Given the description of an element on the screen output the (x, y) to click on. 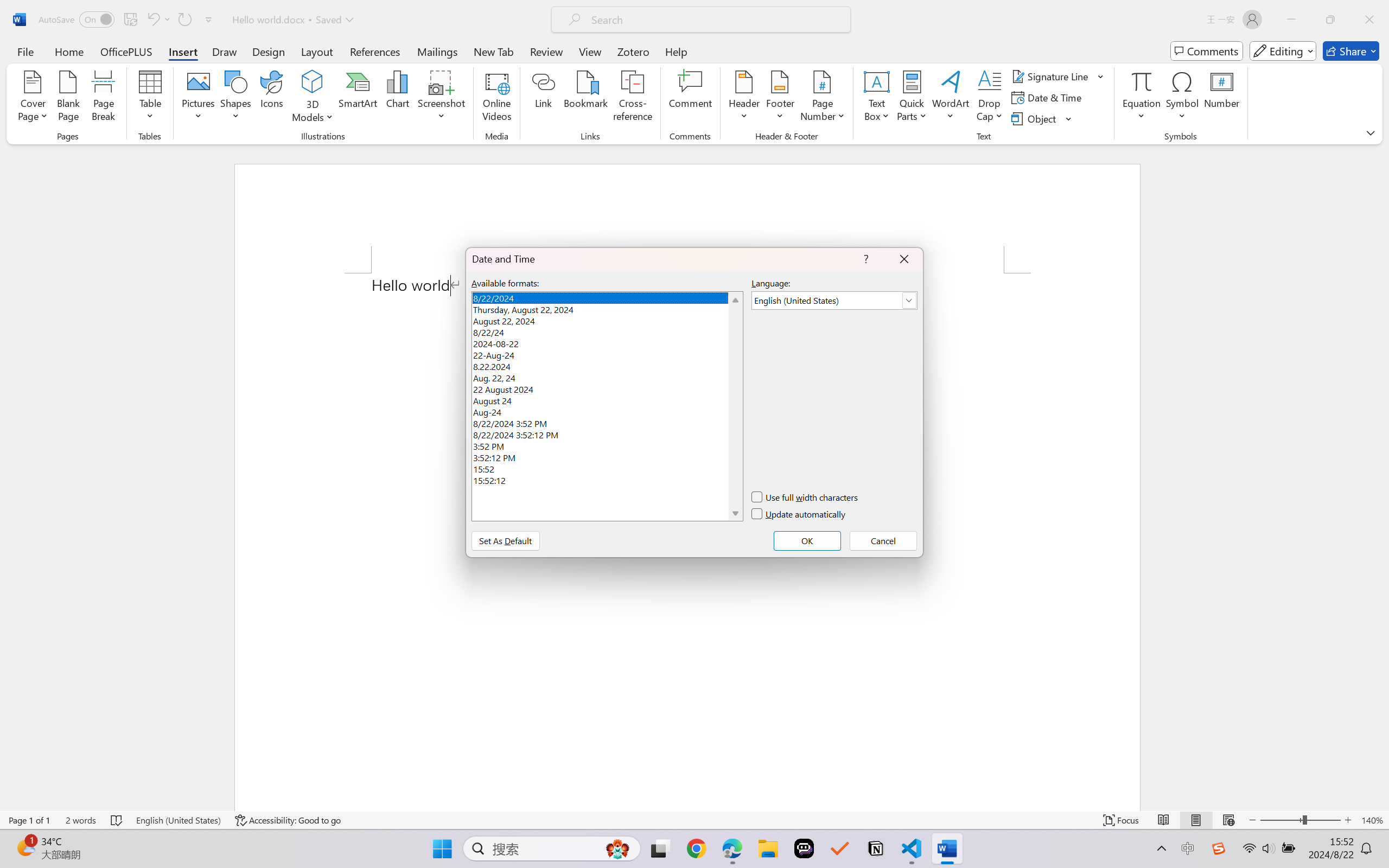
15:52:12 (606, 479)
Mode (1283, 50)
Spelling and Grammar Check No Errors (117, 819)
Focus  (1121, 819)
Web Layout (1228, 819)
OK (807, 540)
8/22/2024 3:52 PM (606, 421)
More Options (1141, 112)
Zoom In (1348, 819)
3D Models (312, 81)
Language English (United States) (178, 819)
Table (149, 97)
